Given the description of an element on the screen output the (x, y) to click on. 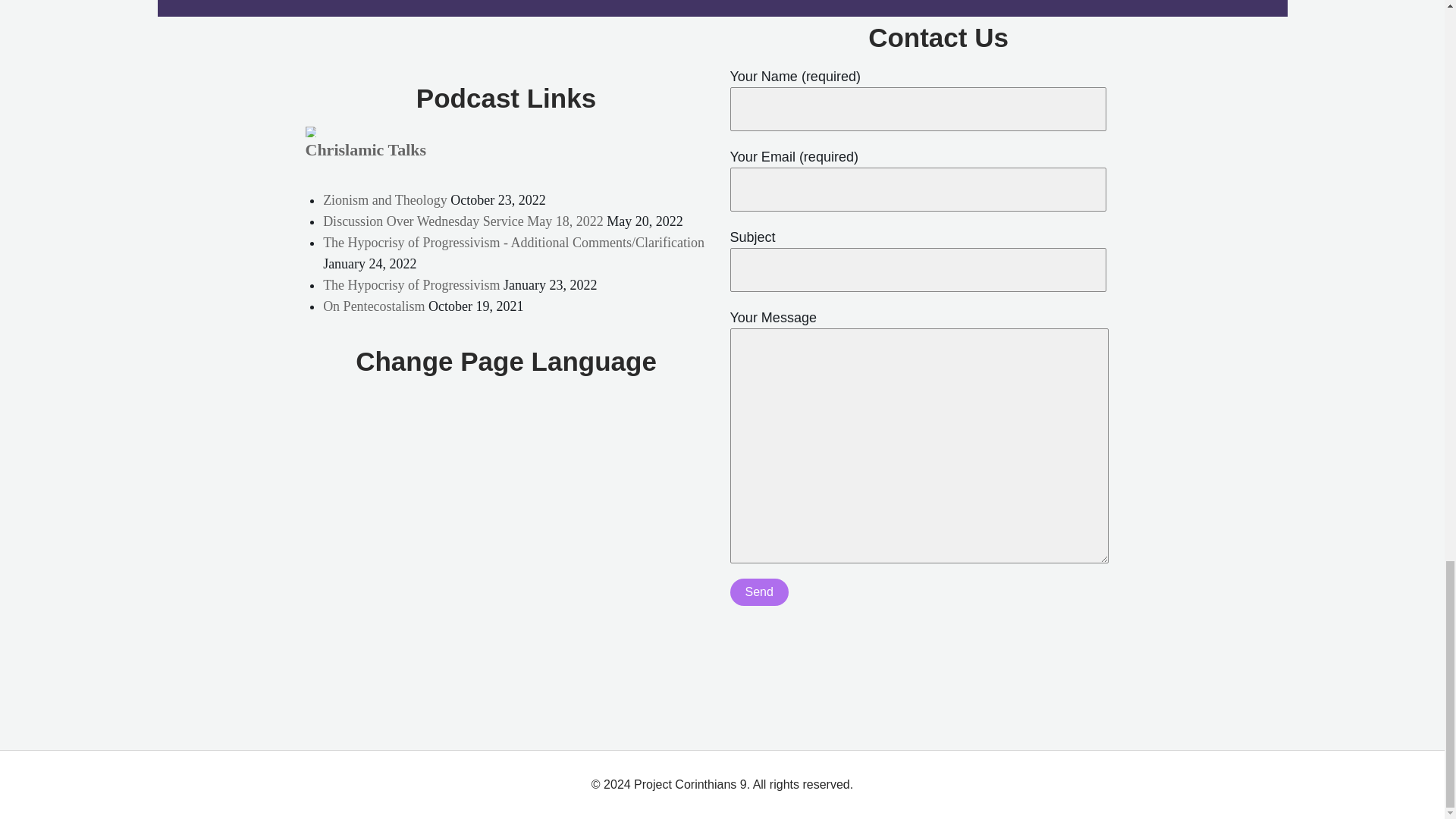
The Hypocrisy of Progressivism (411, 284)
Indonesian (496, 406)
Zionism and Theology (384, 200)
Send (758, 592)
Arabic (451, 406)
Portuguese (511, 406)
Discussion Over Wednesday Service May 18, 2022 (463, 221)
Send (758, 592)
On Pentecostalism (374, 305)
Chrislamic Talks (365, 149)
